Given the description of an element on the screen output the (x, y) to click on. 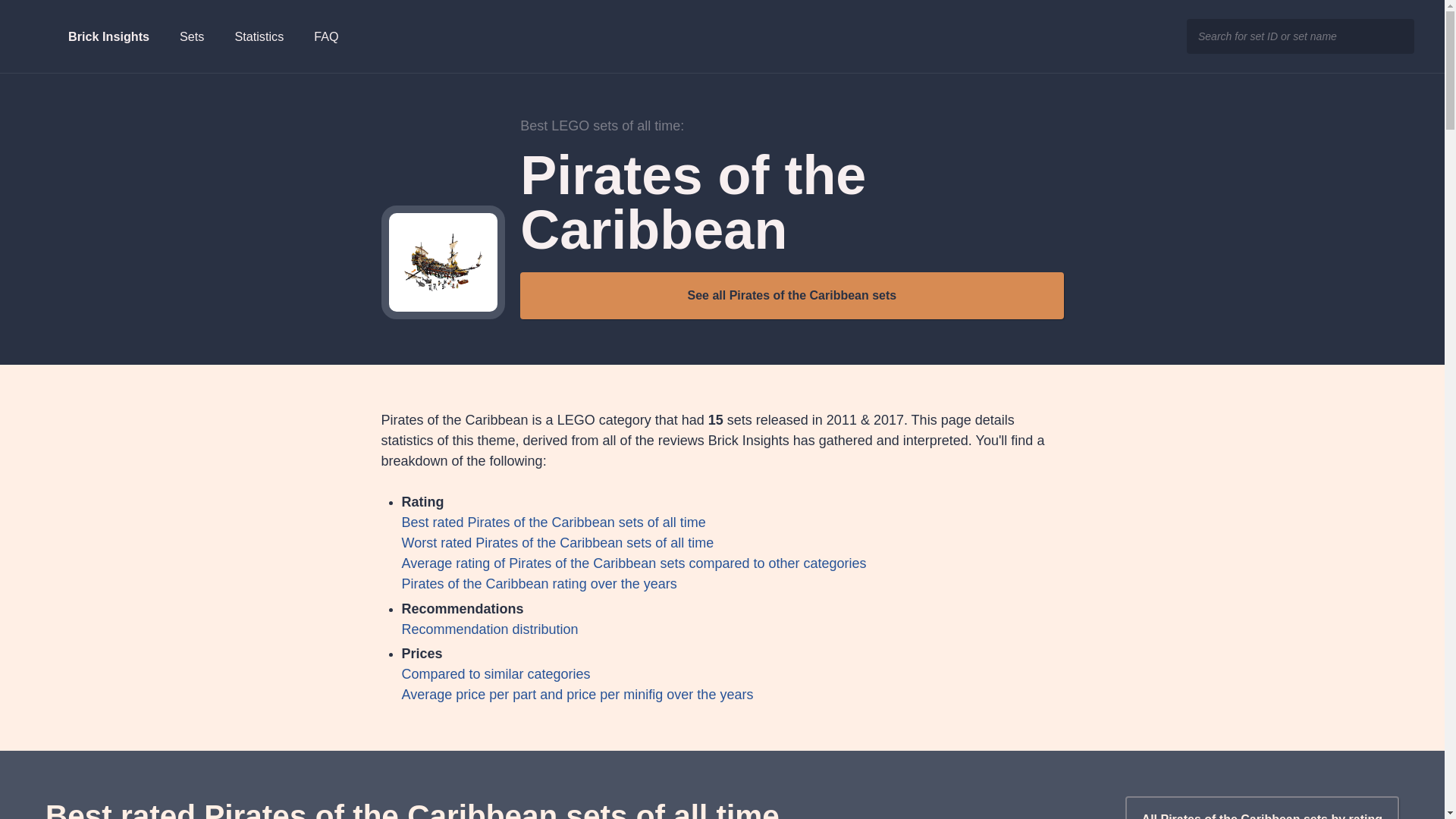
All Pirates of the Caribbean sets by rating (1262, 807)
Pirates of the Caribbean rating over the years (539, 583)
Brick Insights (89, 36)
Best rated Pirates of the Caribbean sets of all time (553, 522)
Statistics (258, 36)
Compared to similar categories (496, 673)
Average price per part and price per minifig over the years (577, 694)
Worst rated Pirates of the Caribbean sets of all time (557, 542)
Search (1395, 36)
